Given the description of an element on the screen output the (x, y) to click on. 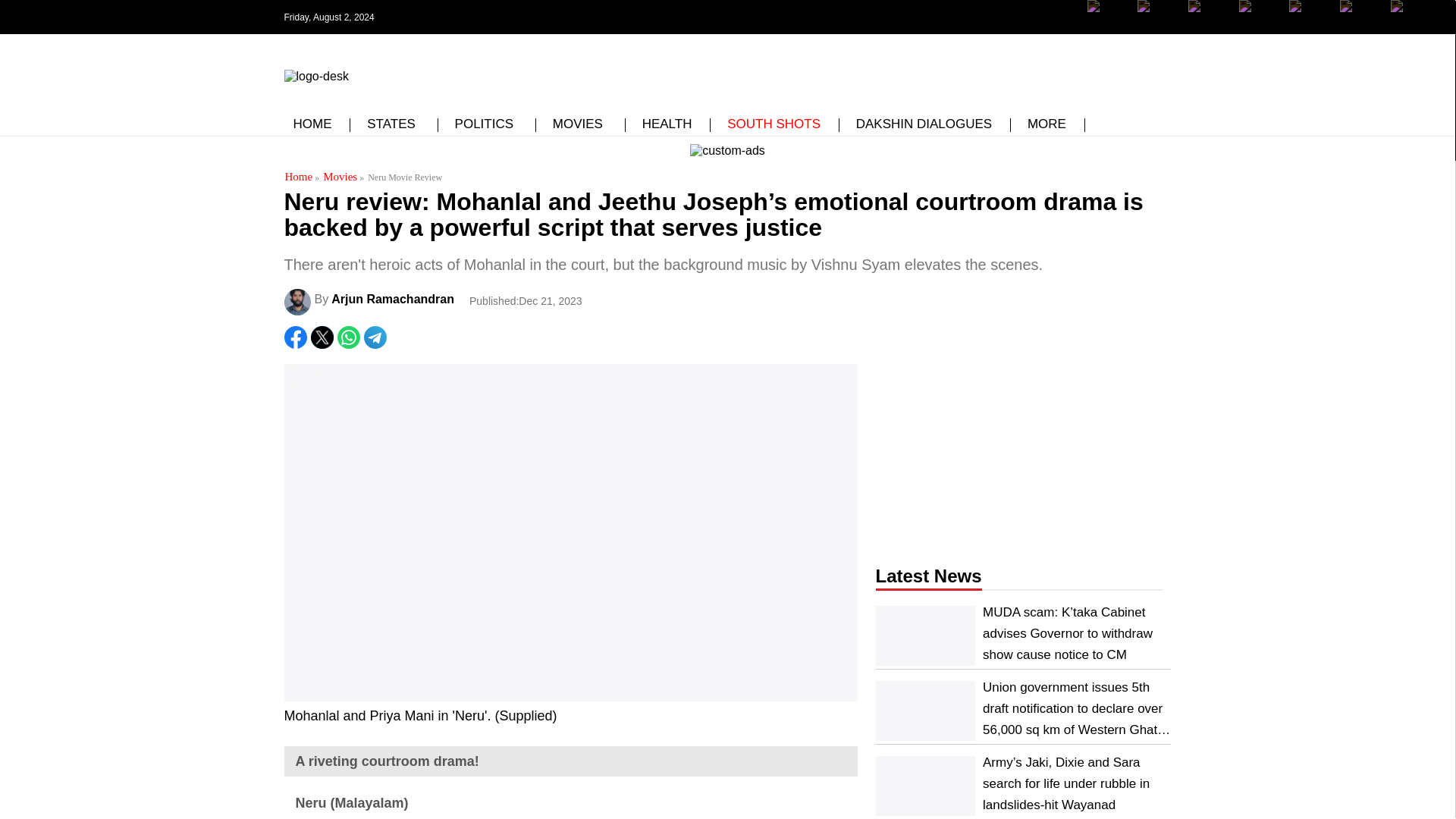
SouthFirst youtube (1260, 27)
SouthFirst youtube (1309, 27)
SouthFirst instagram (1209, 27)
logo (315, 72)
SouthFirst twitter (1158, 16)
SouthFirst instagram (1209, 16)
SouthFirst facebook (1108, 27)
SouthFirst twitter (1158, 27)
SouthFirst youtube (1309, 16)
SouthFirst facebook (1108, 16)
logo-desk (315, 76)
SouthFirst youtube (1260, 16)
